Given the description of an element on the screen output the (x, y) to click on. 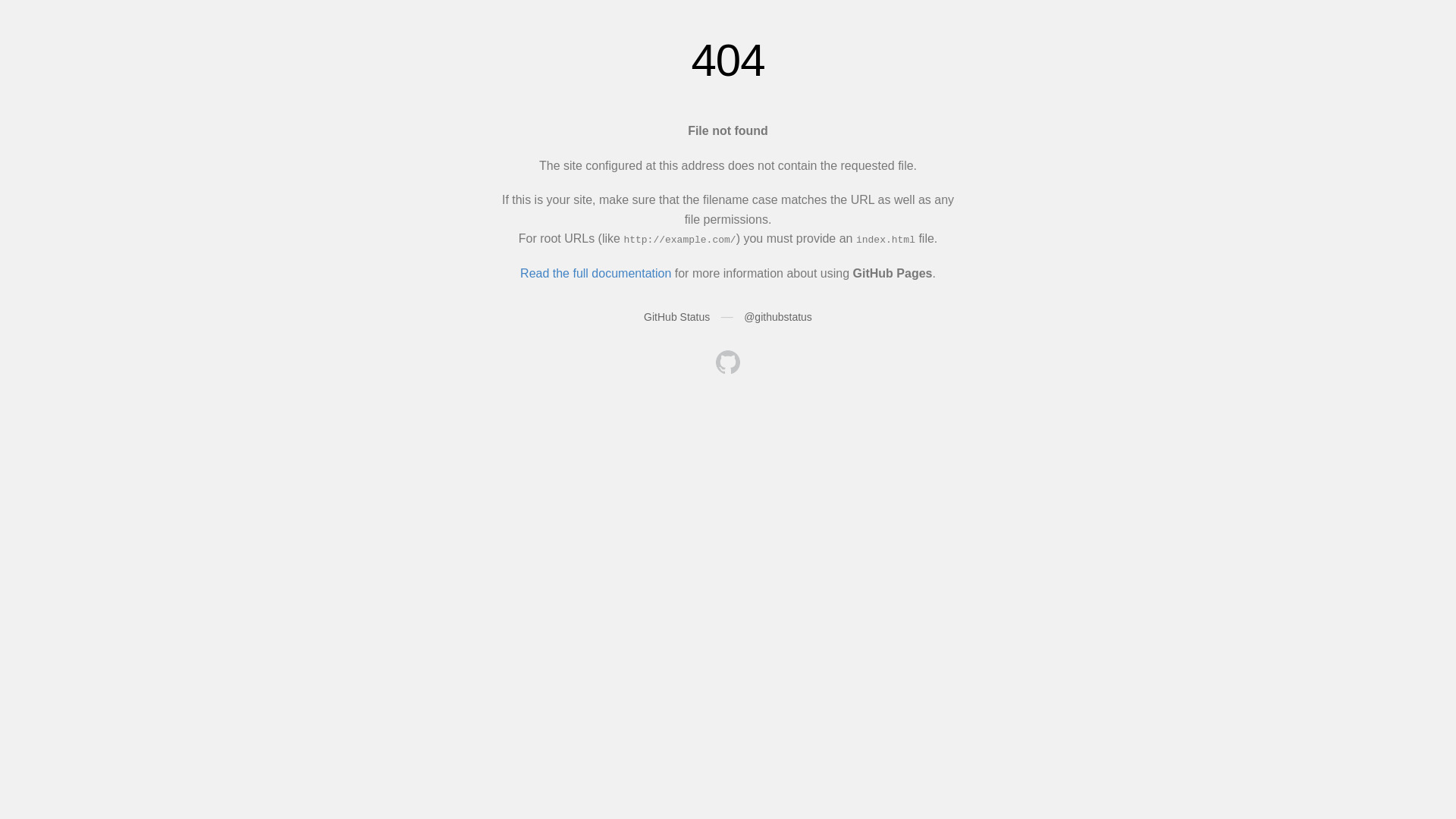
@githubstatus Element type: text (777, 316)
Read the full documentation Element type: text (595, 272)
GitHub Status Element type: text (676, 316)
